Given the description of an element on the screen output the (x, y) to click on. 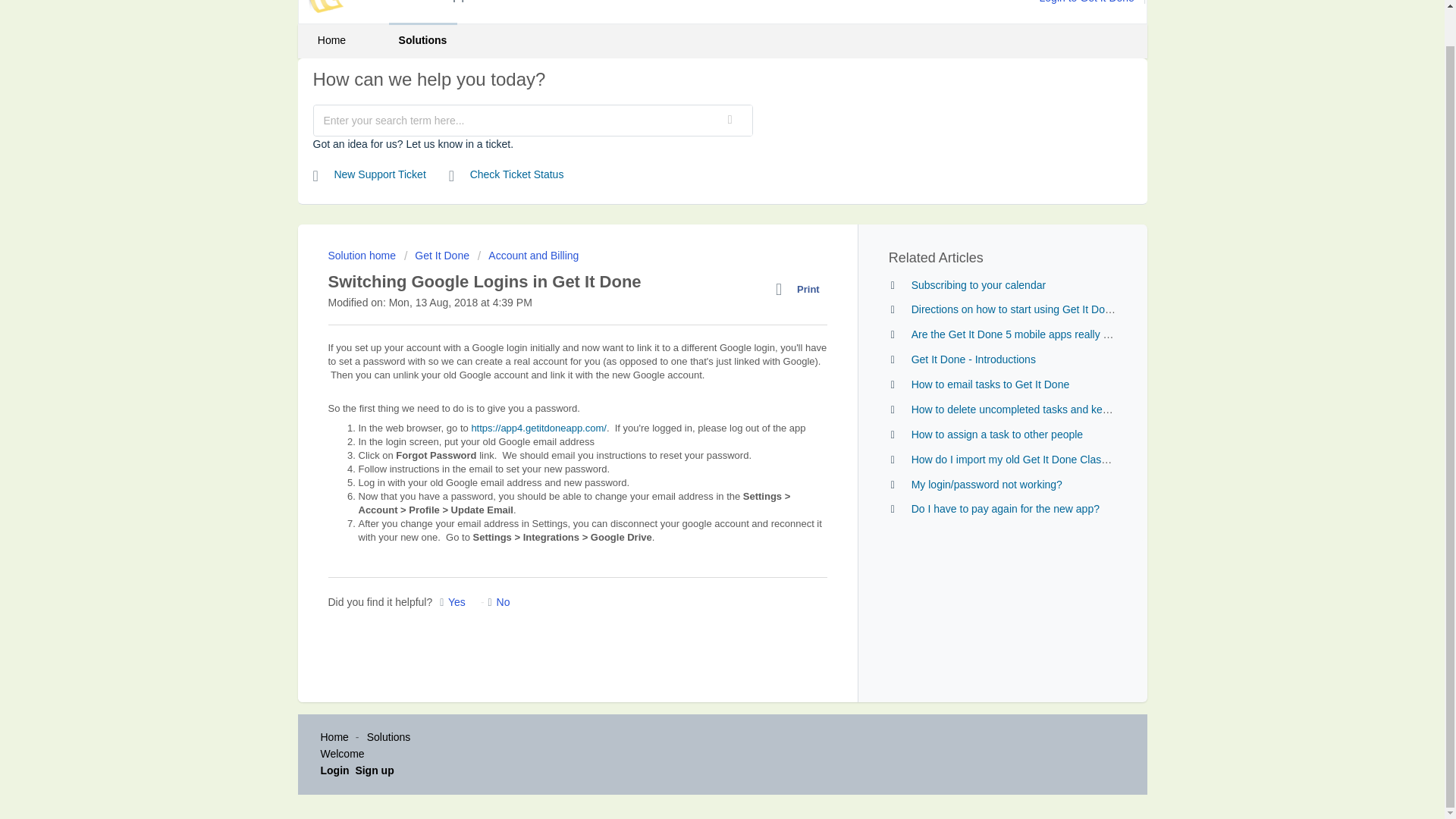
New Support Ticket (369, 175)
How to delete uncompleted tasks and keep only certain tasks (1055, 409)
Home (331, 40)
Login to Get It Done (1093, 2)
New support ticket (369, 175)
How to email tasks to Get It Done (990, 384)
Get It Done - Introductions (973, 358)
Home (333, 736)
How to assign a task to other people (997, 434)
Are the Get It Done 5 mobile apps really free? (1018, 334)
